Given the description of an element on the screen output the (x, y) to click on. 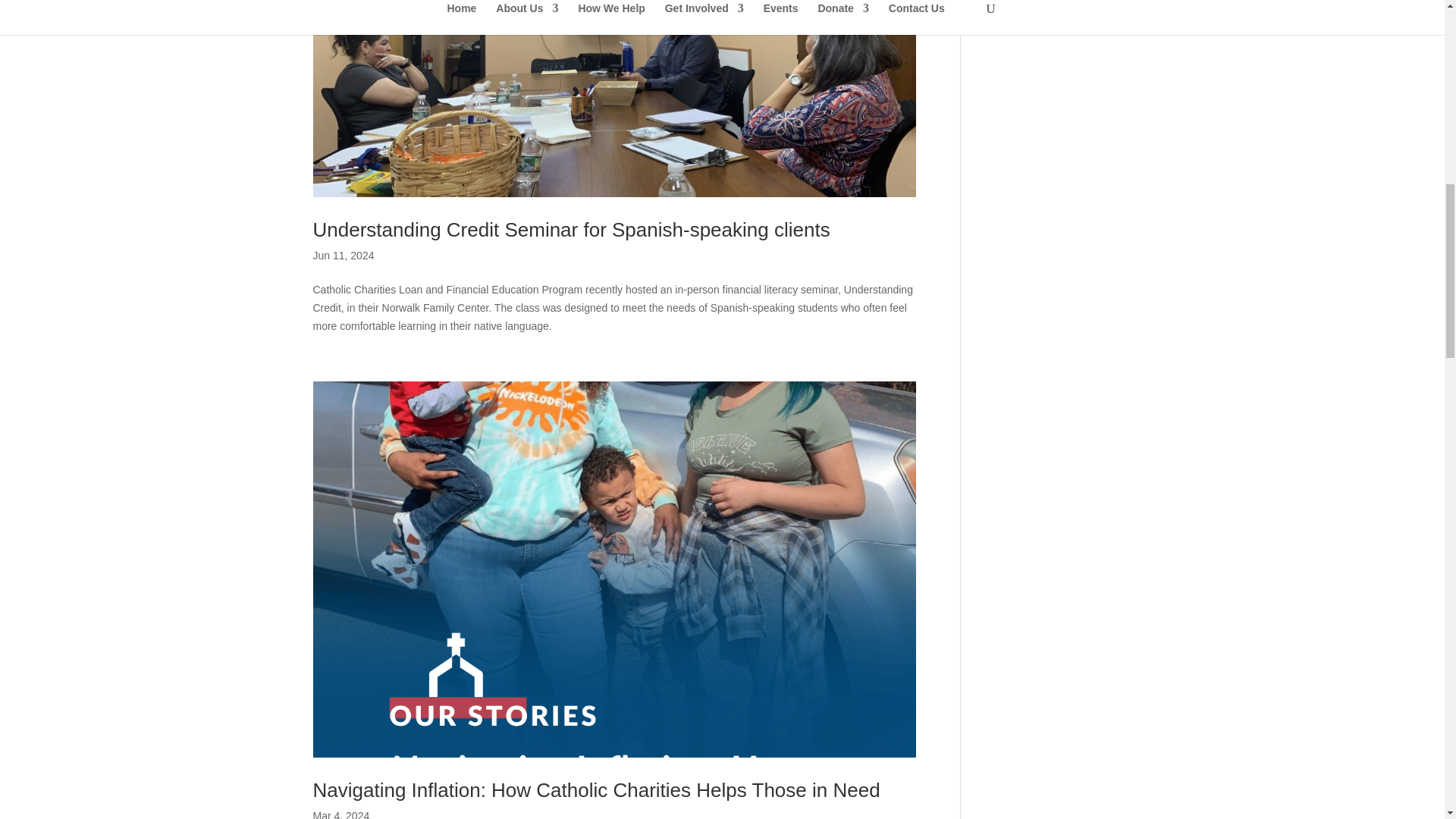
Understanding Credit Seminar for Spanish-speaking clients (571, 229)
